Given the description of an element on the screen output the (x, y) to click on. 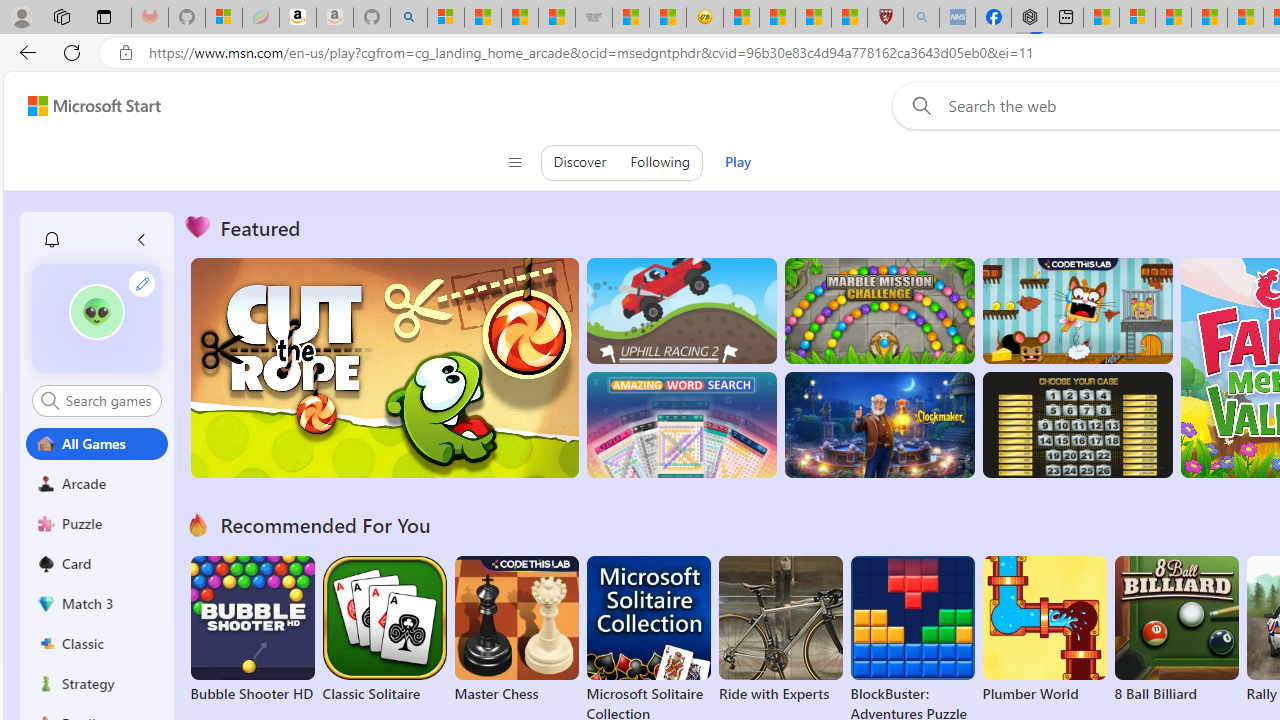
Plumber World (1044, 629)
Bubble Shooter HD (251, 629)
Master Chess (516, 629)
Deal or No Deal (1076, 425)
AutomationID: control (108, 400)
Class: control icon-only (514, 162)
Marble Mission : Challenge (879, 310)
